Given the description of an element on the screen output the (x, y) to click on. 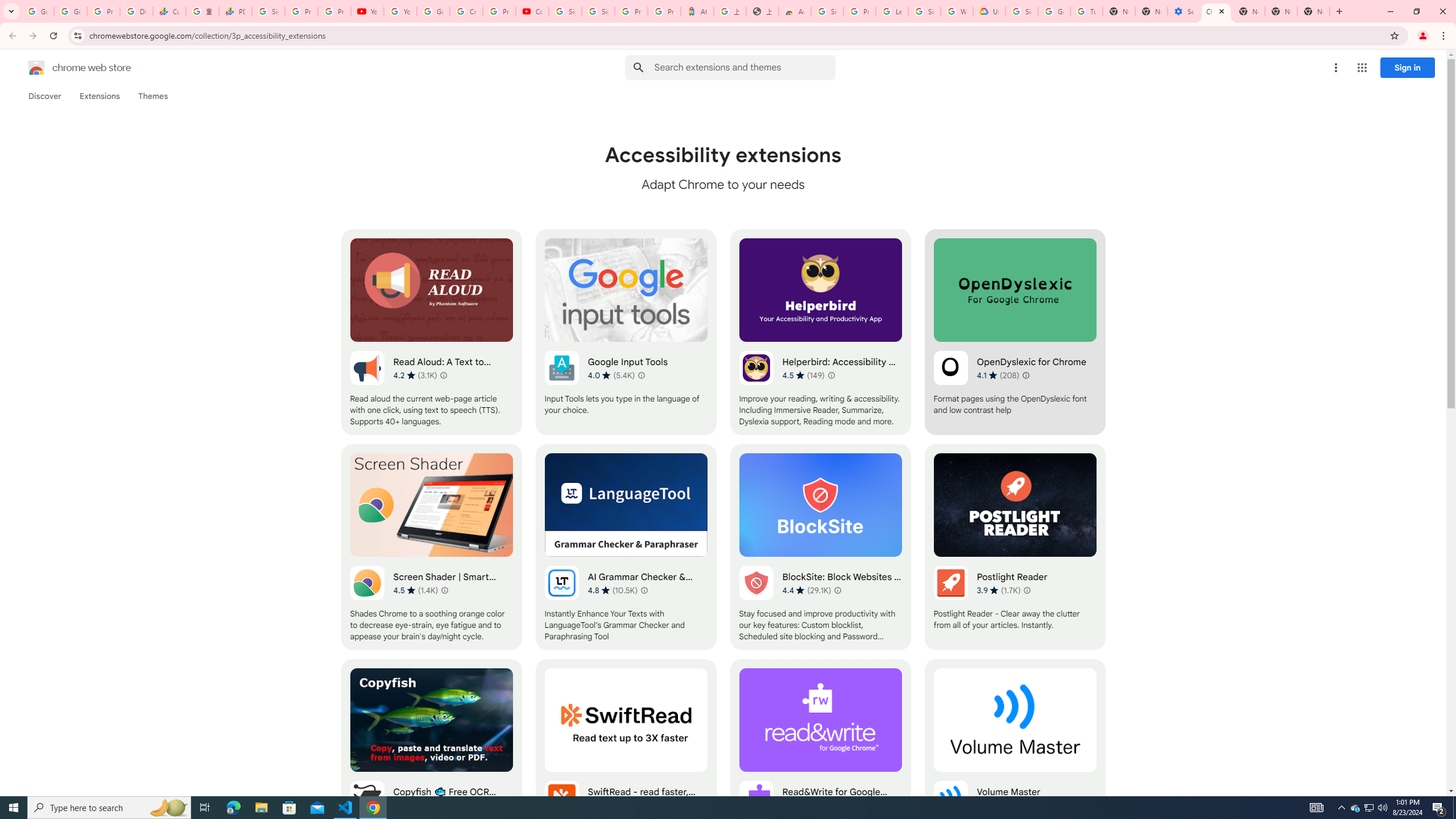
Google Account Help (1053, 11)
Currencies - Google Finance (169, 11)
Themes (152, 95)
YouTube (367, 11)
Chrome Web Store logo (36, 67)
Extensions (99, 95)
Average rating 4.8 out of 5 stars. 10.5K ratings. (612, 590)
Privacy Checkup (334, 11)
Learn more about results and reviews "Postlight Reader" (1026, 590)
